Given the description of an element on the screen output the (x, y) to click on. 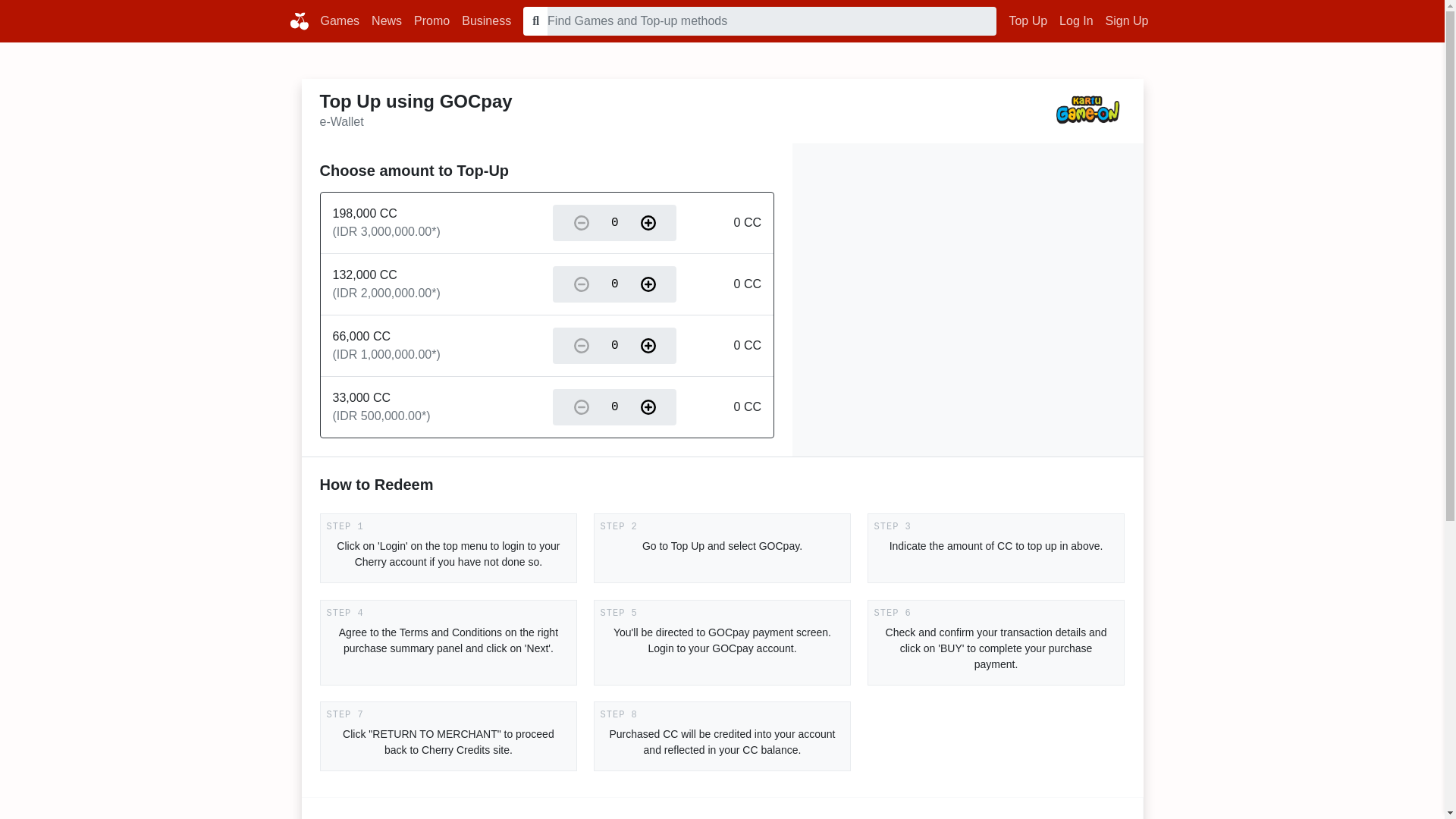
Log In (1075, 20)
Sign Up (1126, 20)
0 (614, 345)
Top Up (1027, 20)
0 (614, 284)
0 (614, 406)
Promo (431, 20)
Games (339, 20)
0 (614, 222)
Business (485, 20)
News (386, 20)
